Given the description of an element on the screen output the (x, y) to click on. 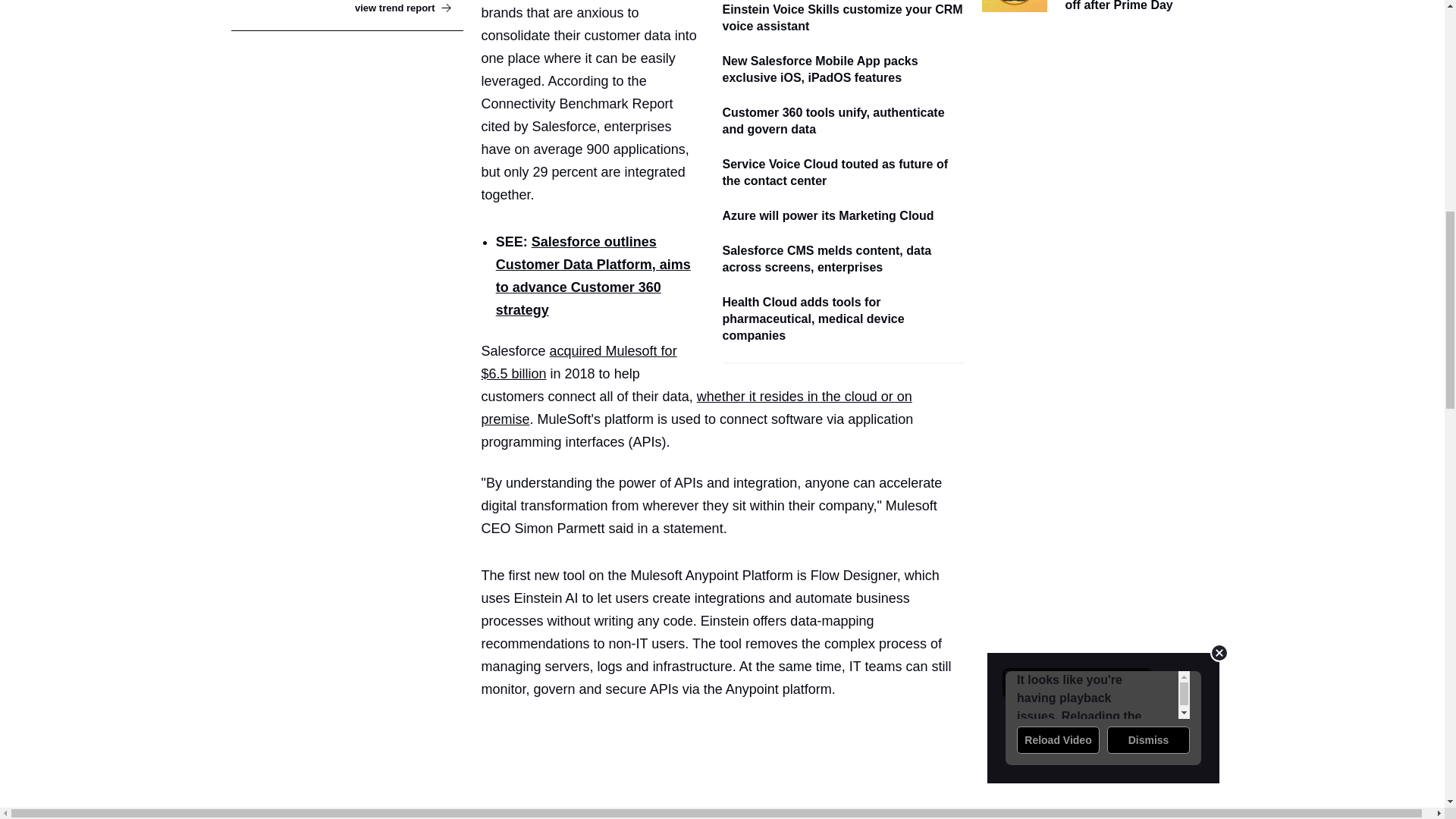
3rd party ad content (727, 758)
